Given the description of an element on the screen output the (x, y) to click on. 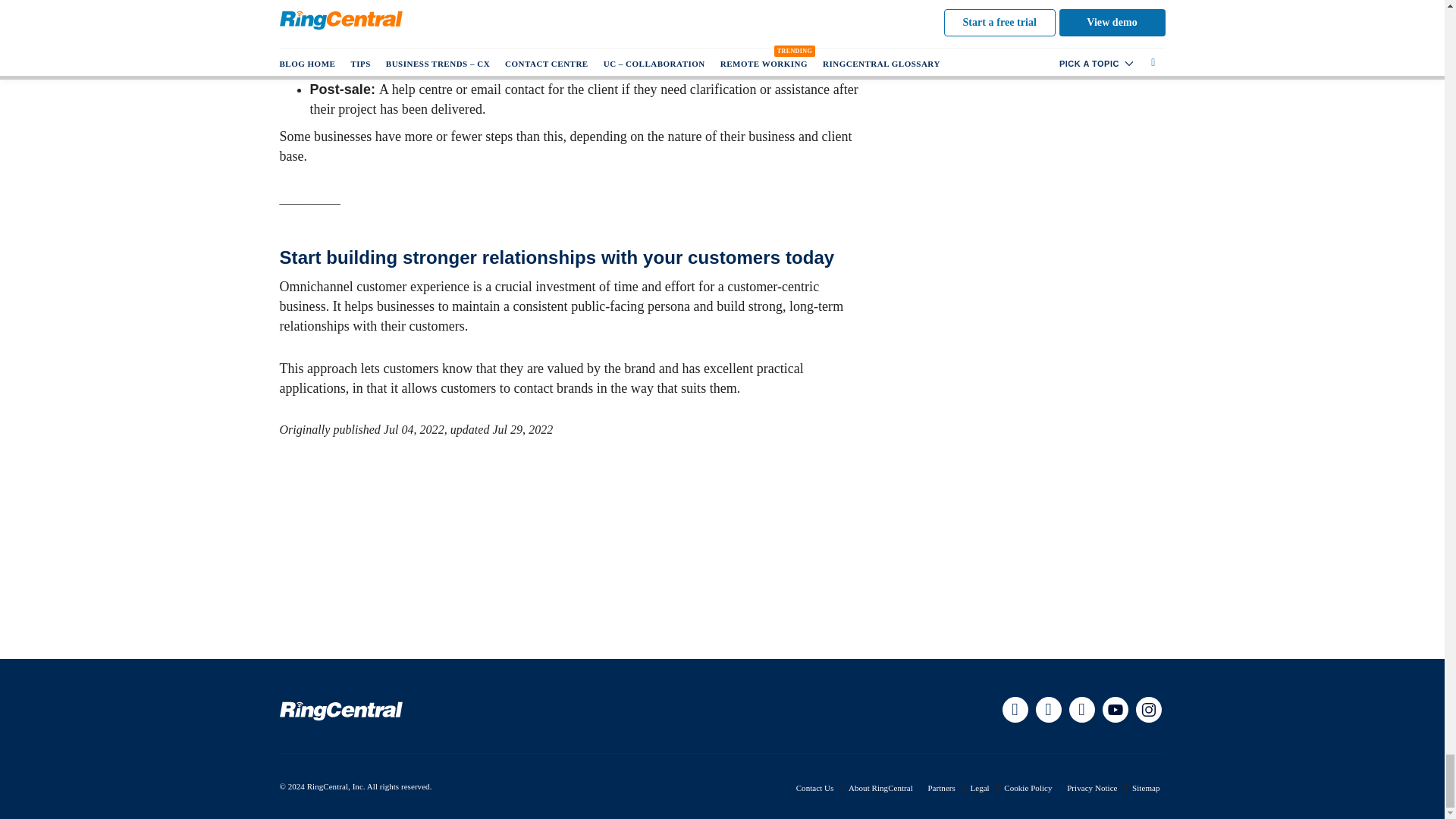
Partners (941, 787)
Legal (978, 787)
Cookie Policy (1027, 787)
Contact Us (815, 787)
About RingCentral (880, 787)
